Given the description of an element on the screen output the (x, y) to click on. 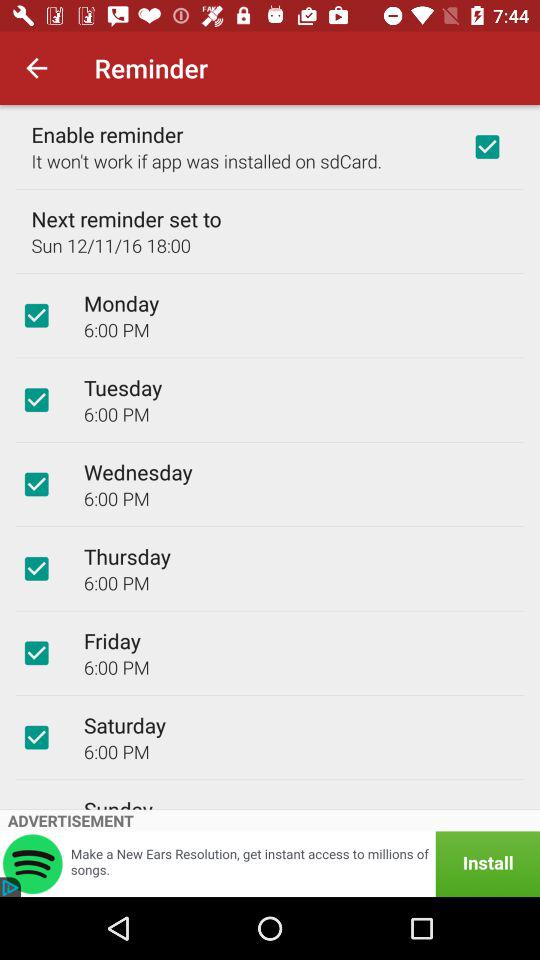
selection check box (36, 568)
